Given the description of an element on the screen output the (x, y) to click on. 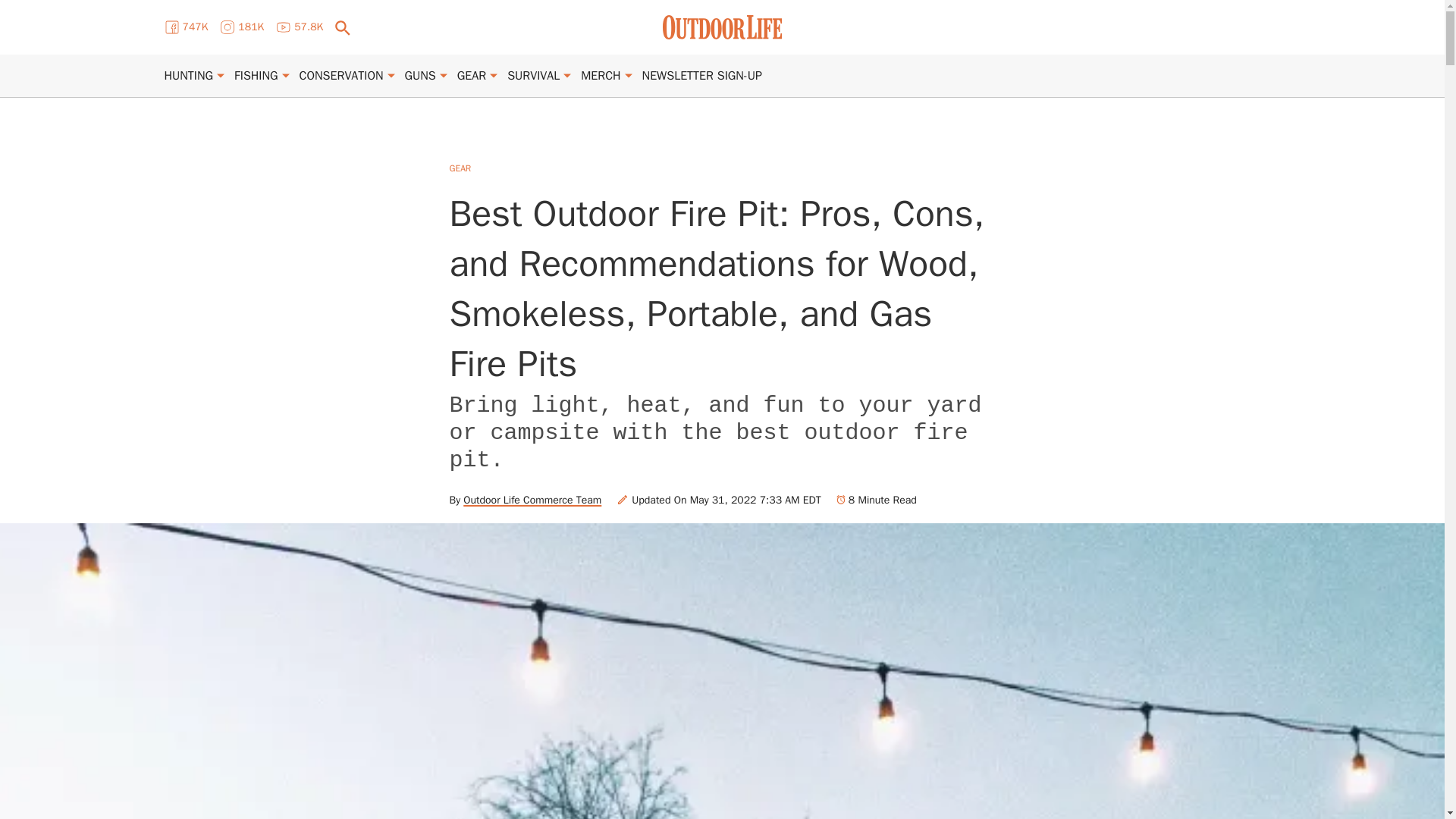
Newsletter Sign-up (701, 75)
Guns (419, 75)
Merch (600, 75)
Survival (532, 75)
Hunting (187, 75)
Gear (471, 75)
Conservation (341, 75)
Fishing (256, 75)
